Given the description of an element on the screen output the (x, y) to click on. 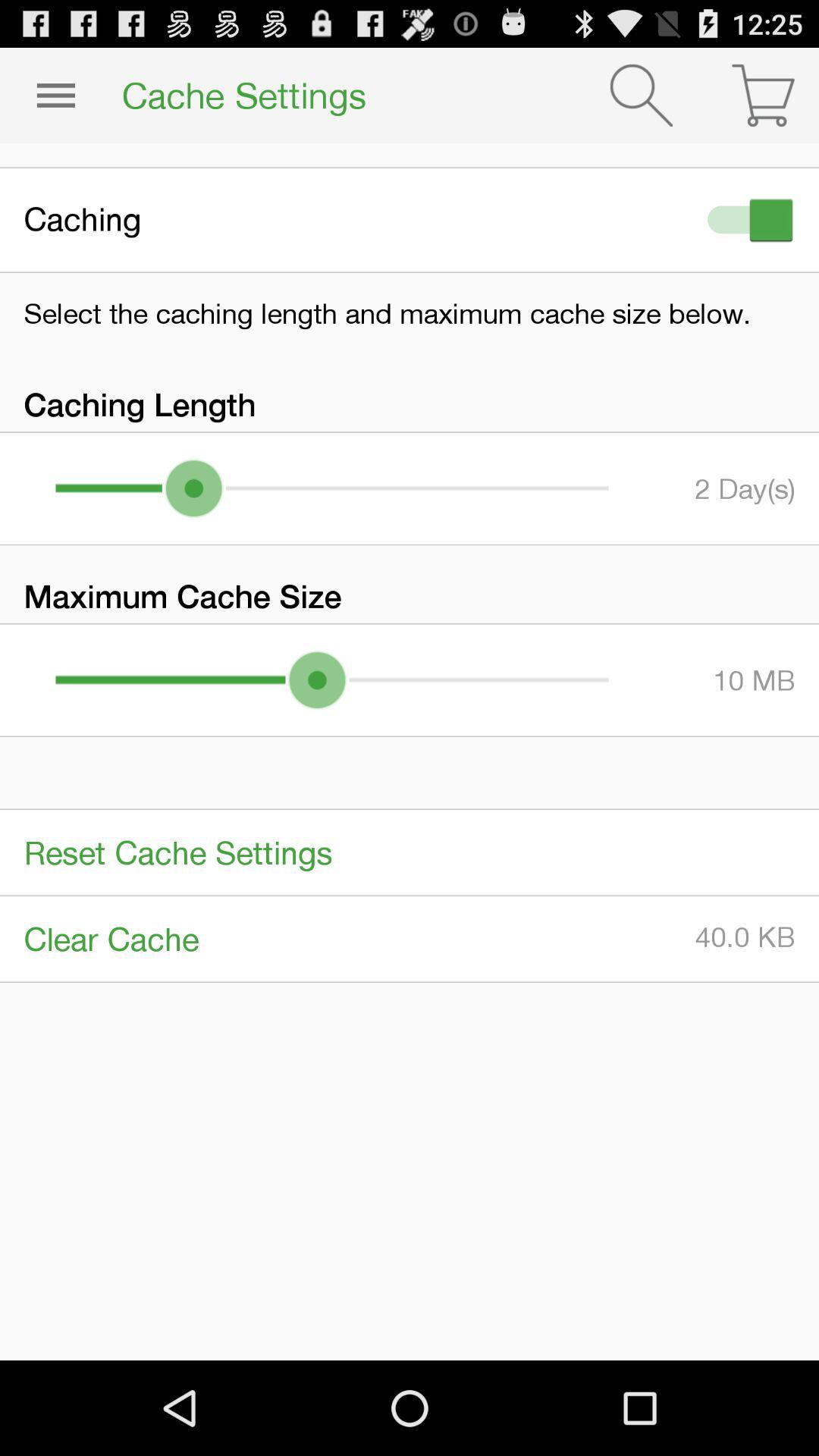
turn on the item to the right of caching item (747, 219)
